Given the description of an element on the screen output the (x, y) to click on. 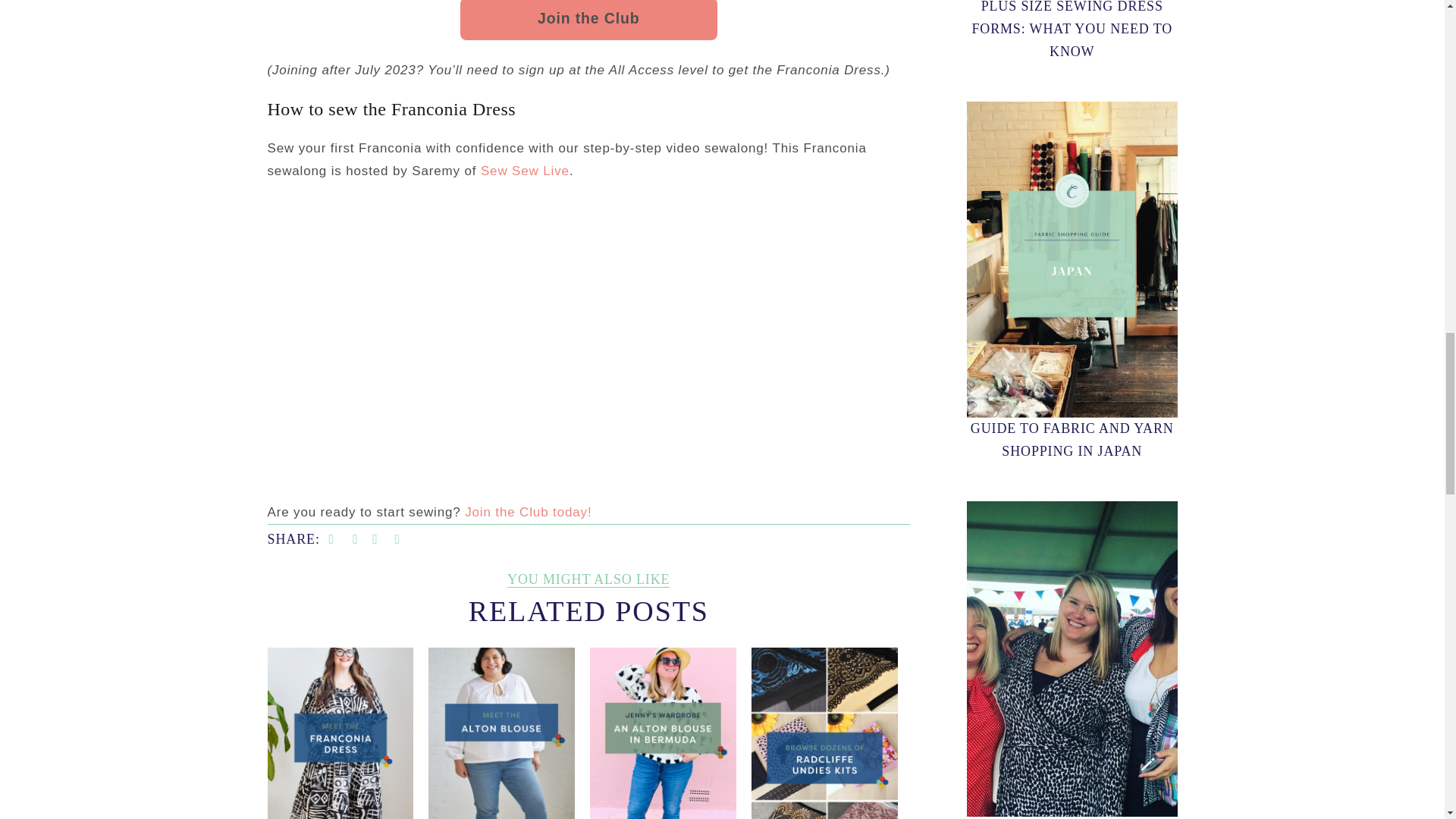
An Alton Blouse in Bermuda (662, 755)
